Given the description of an element on the screen output the (x, y) to click on. 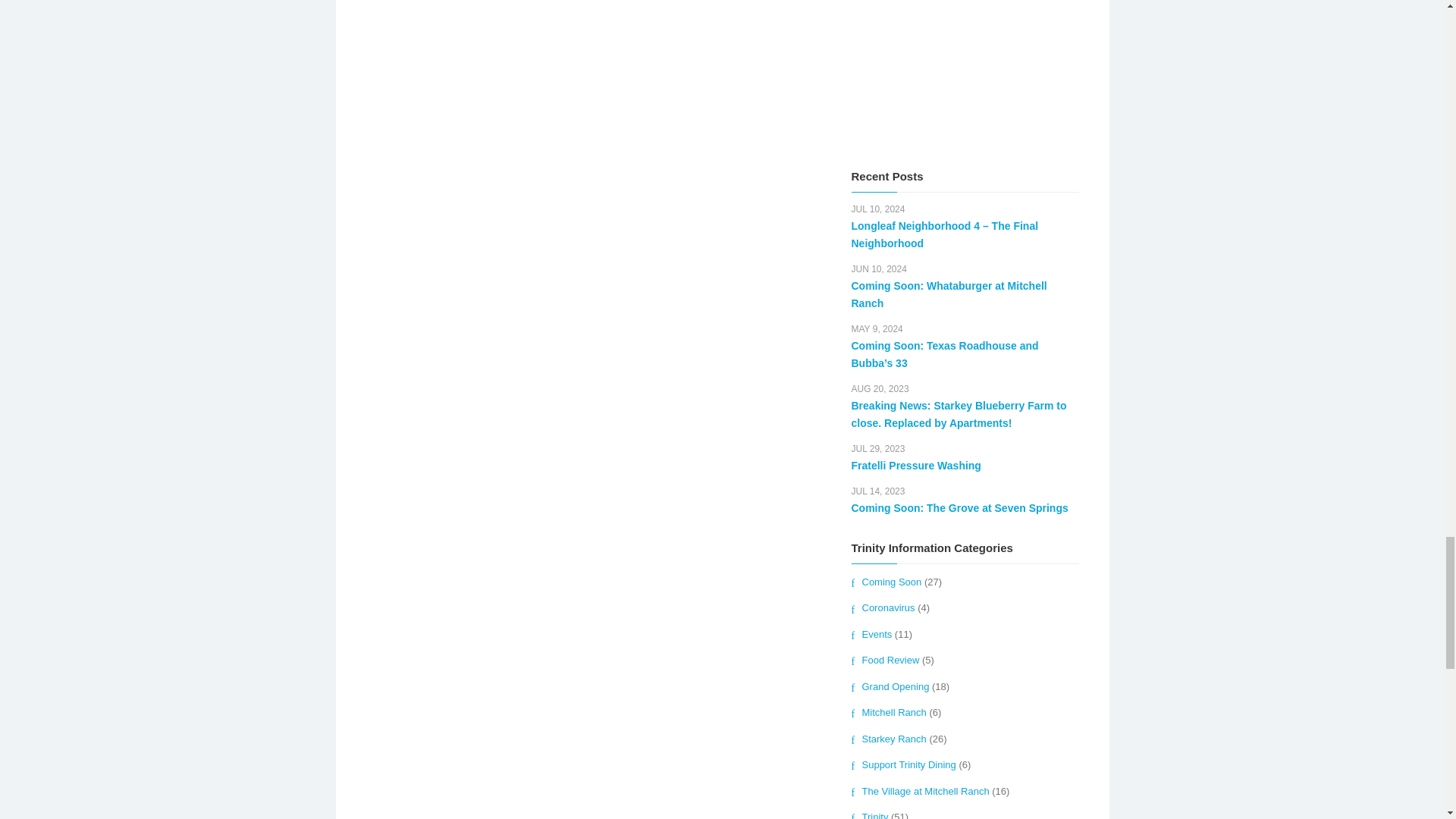
Advertisement (964, 72)
